Given the description of an element on the screen output the (x, y) to click on. 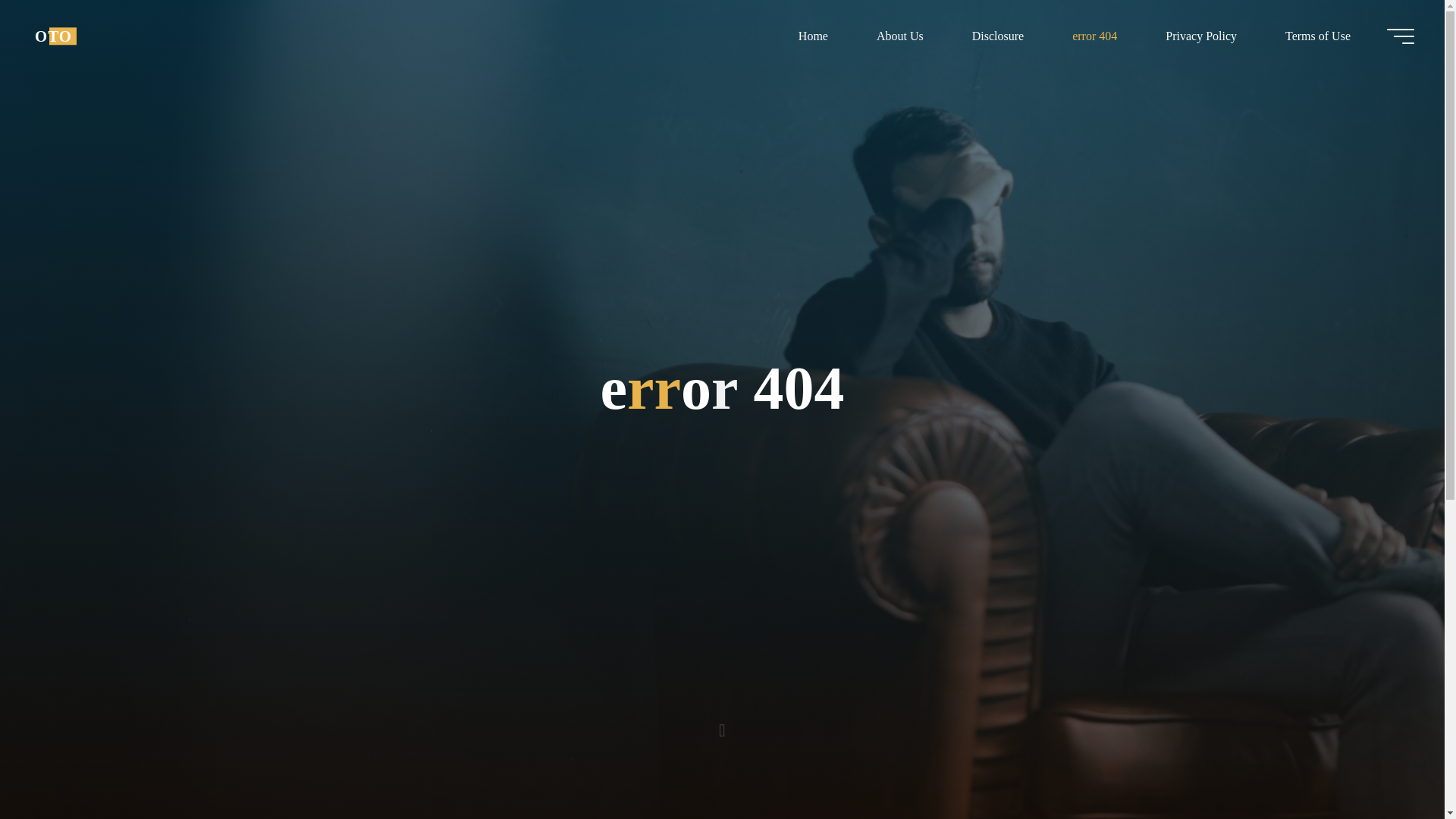
error 404 (1094, 35)
Read more (721, 724)
Home (812, 35)
About Us (899, 35)
OTO (53, 36)
Disclosure (997, 35)
Privacy Policy (1200, 35)
Terms of Use (1317, 35)
